Given the description of an element on the screen output the (x, y) to click on. 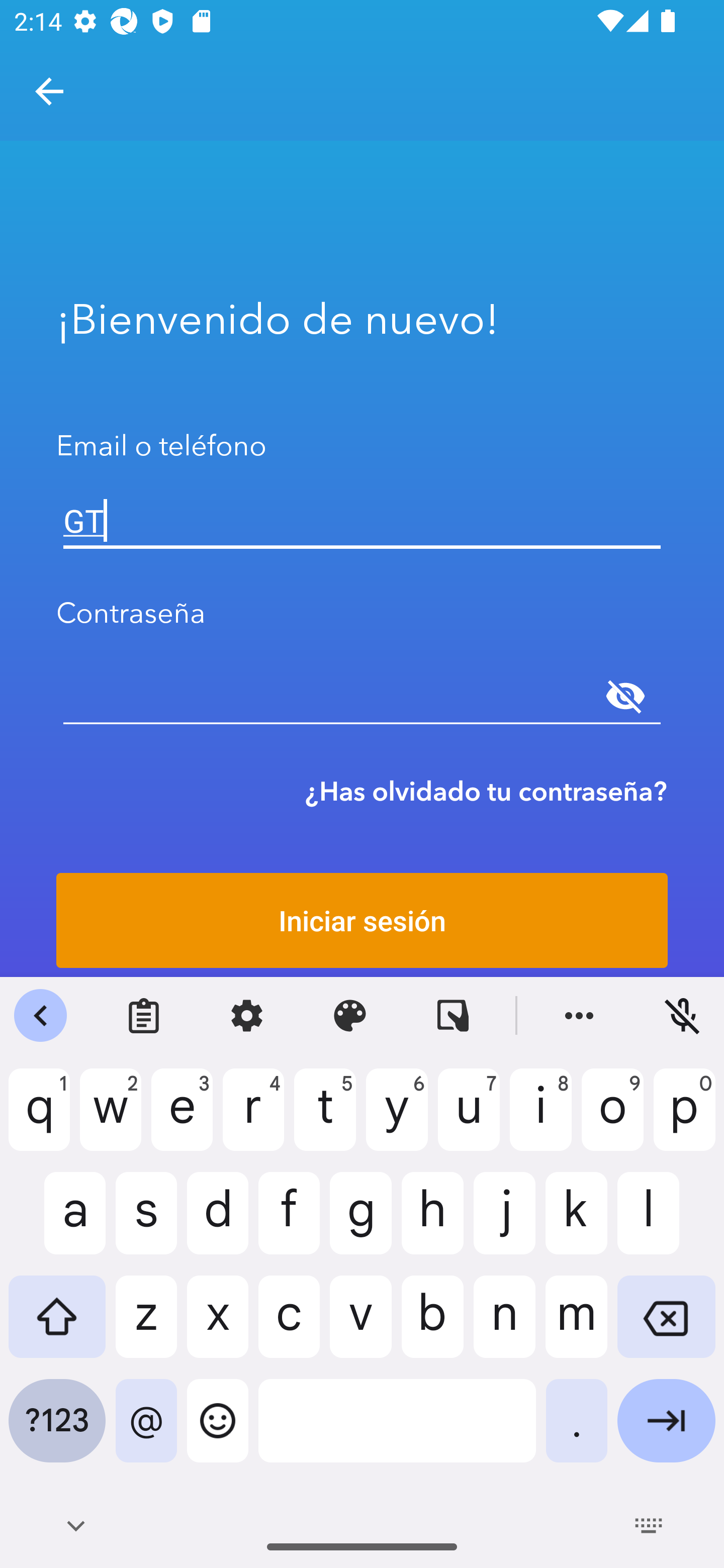
Navegar hacia arriba (49, 91)
GT (361, 521)
Mostrar contraseña (625, 695)
¿Has olvidado tu contraseña? (486, 790)
Iniciar sesión (361, 920)
